Given the description of an element on the screen output the (x, y) to click on. 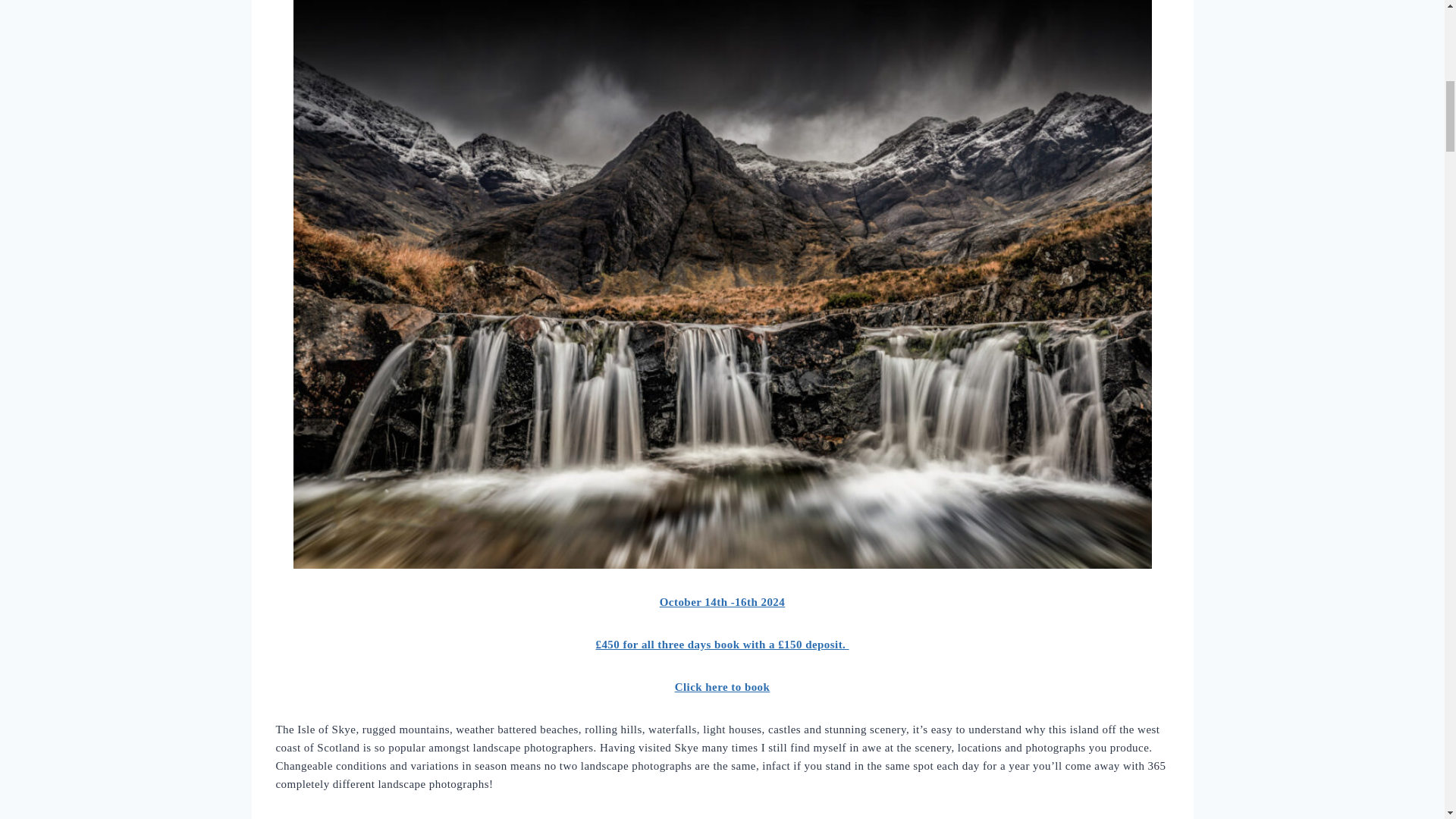
Click here to book (722, 686)
October 14th -16th 2024 (721, 602)
